Given the description of an element on the screen output the (x, y) to click on. 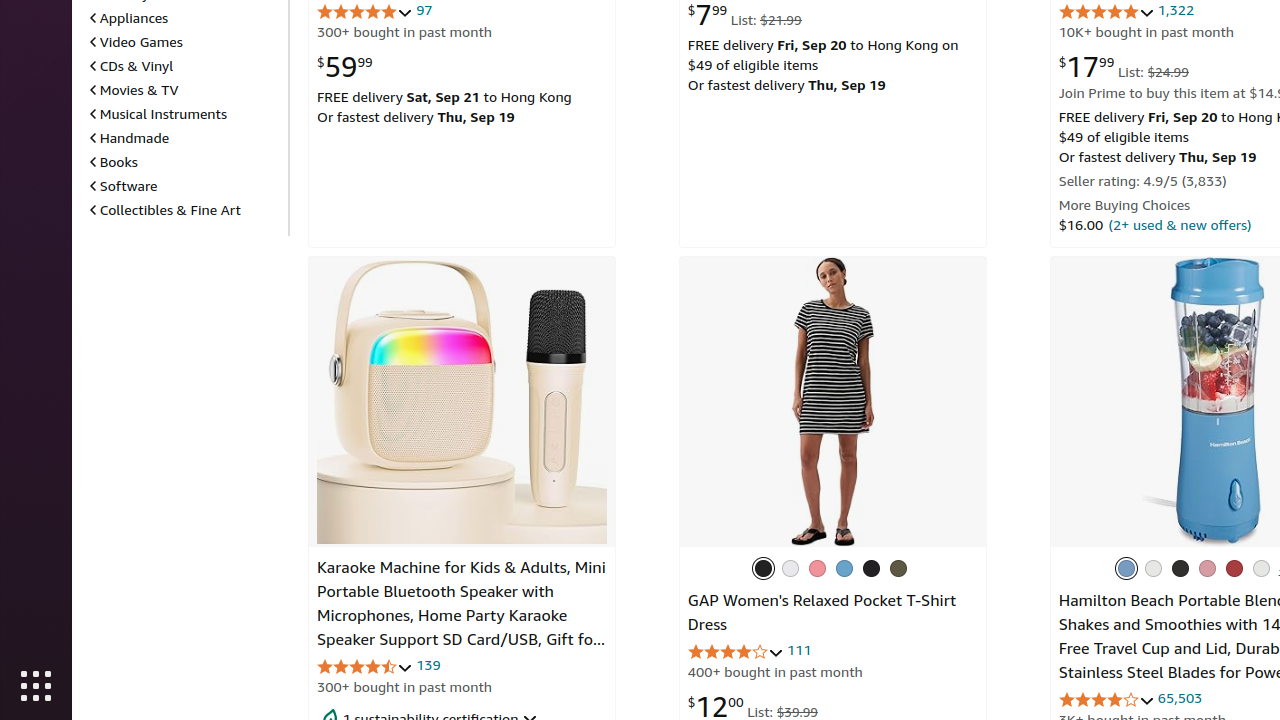
Show Applications Element type: toggle-button (36, 686)
HWWR Karaoke Machine for Kids & Adults, Mini Portable Bluetooth Speaker with Microphones, Home Party Karaoke Speaker Suppo... Element type: link (462, 401)
Karaoke Machine for Kids & Adults, Mini Portable Bluetooth Speaker with Microphones, Home Party Karaoke Speaker Support SD Card/USB, Gift for Brithday, and Toys for Girls/Boys Element type: link (461, 616)
Navy White Stripe Element type: push-button (790, 568)
4.8 out of 5 stars Element type: push-button (1106, 11)
